Given the description of an element on the screen output the (x, y) to click on. 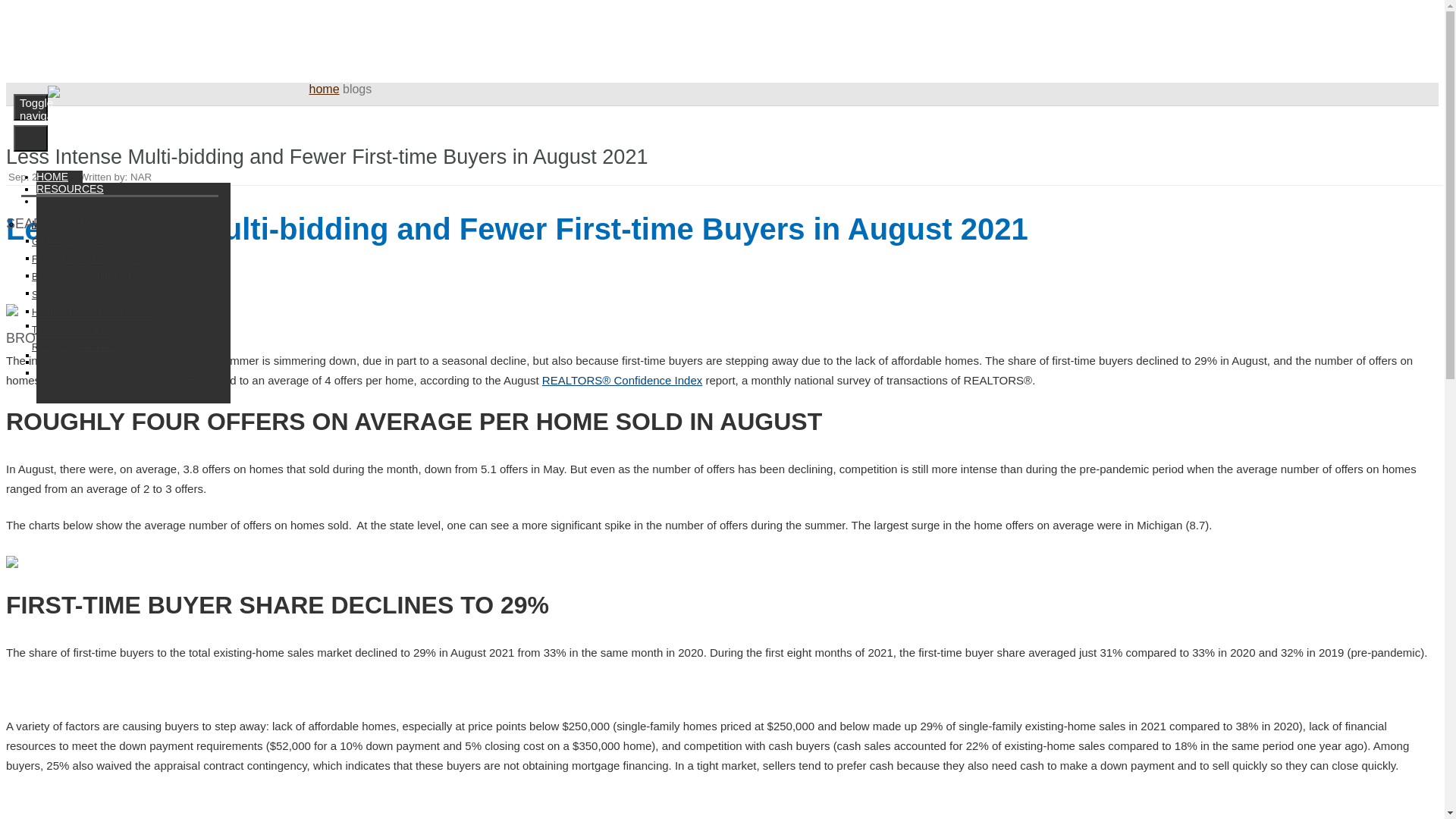
Toggle navigation (30, 107)
OUR FEATURED HOMES (119, 240)
THINGS TO KNOW (119, 330)
MORE (119, 375)
FREE MARKET ANALYSIS (119, 259)
SELLERS INFORMATION (119, 294)
BLOGS (54, 188)
MORTGAGE CALCULATORS (119, 224)
REAL ESTATE TERMS (119, 347)
COMMERCIAL PROPERTY (119, 311)
